Given the description of an element on the screen output the (x, y) to click on. 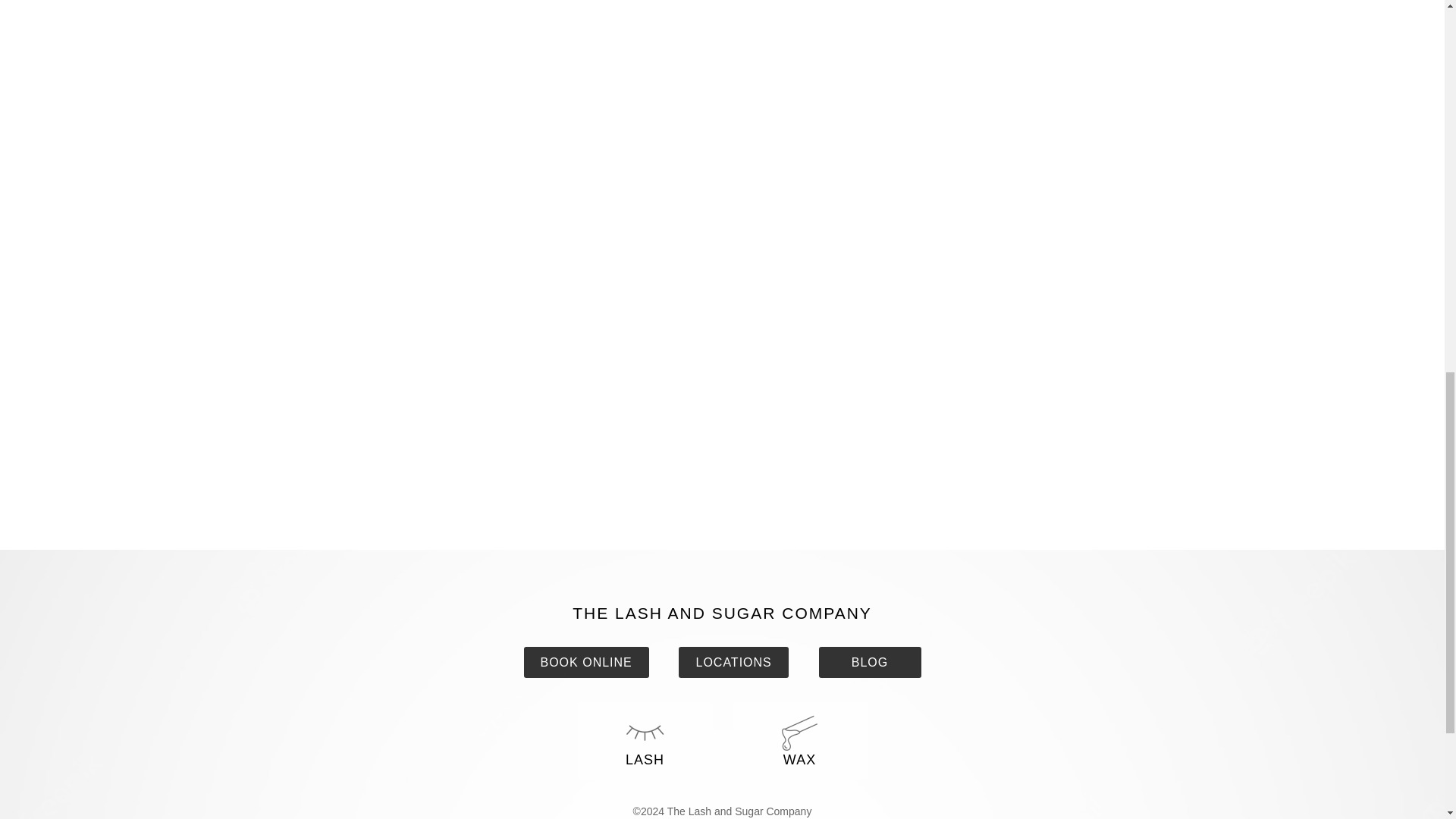
BOOK ONLINE (584, 662)
LOCATIONS (732, 662)
LASH (645, 740)
WAX (799, 740)
BLOG (869, 662)
